Given the description of an element on the screen output the (x, y) to click on. 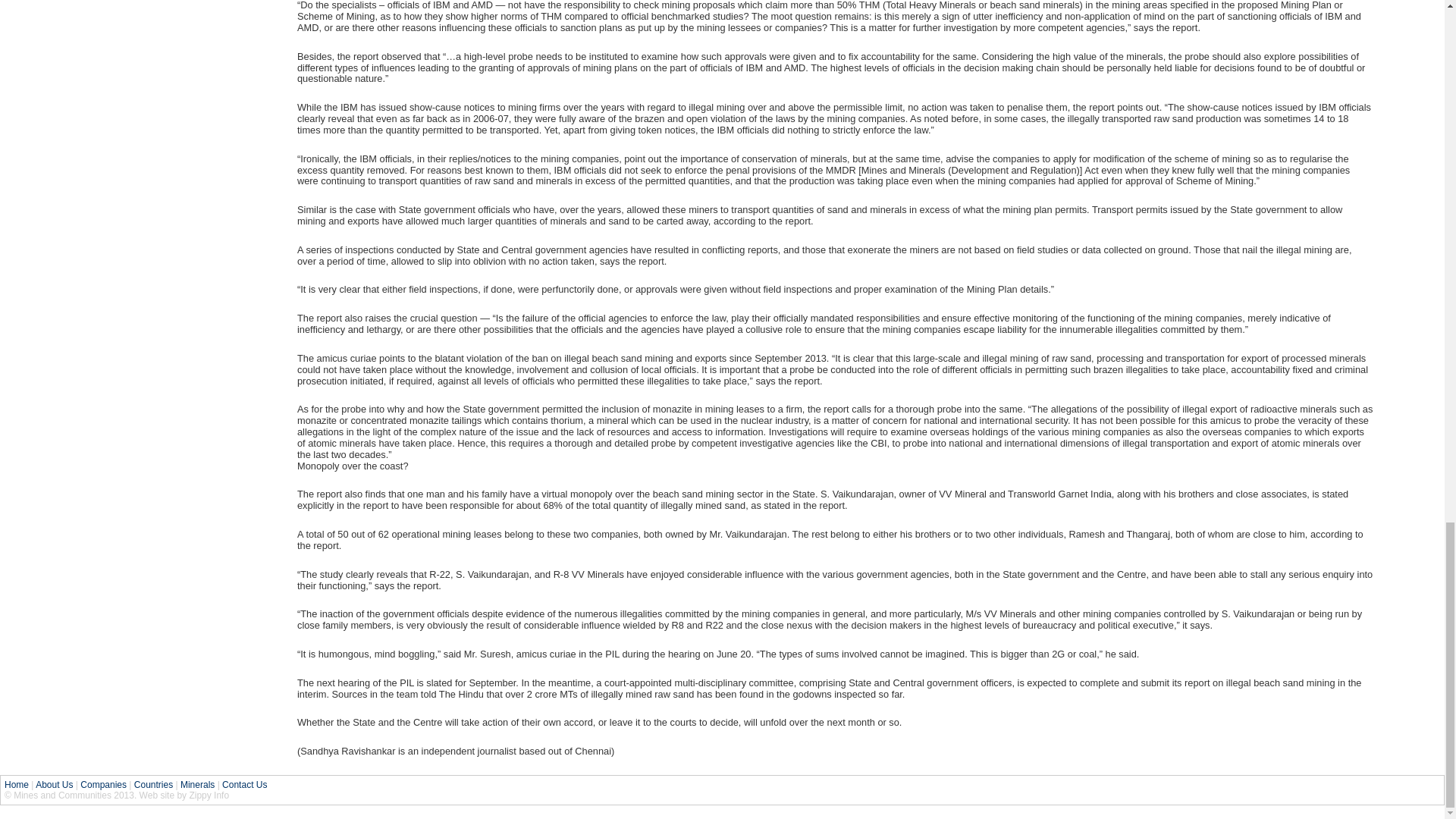
Contact Us (244, 784)
Minerals (197, 784)
Countries (153, 784)
Companies (103, 784)
Home (16, 784)
About Us (53, 784)
